Given the description of an element on the screen output the (x, y) to click on. 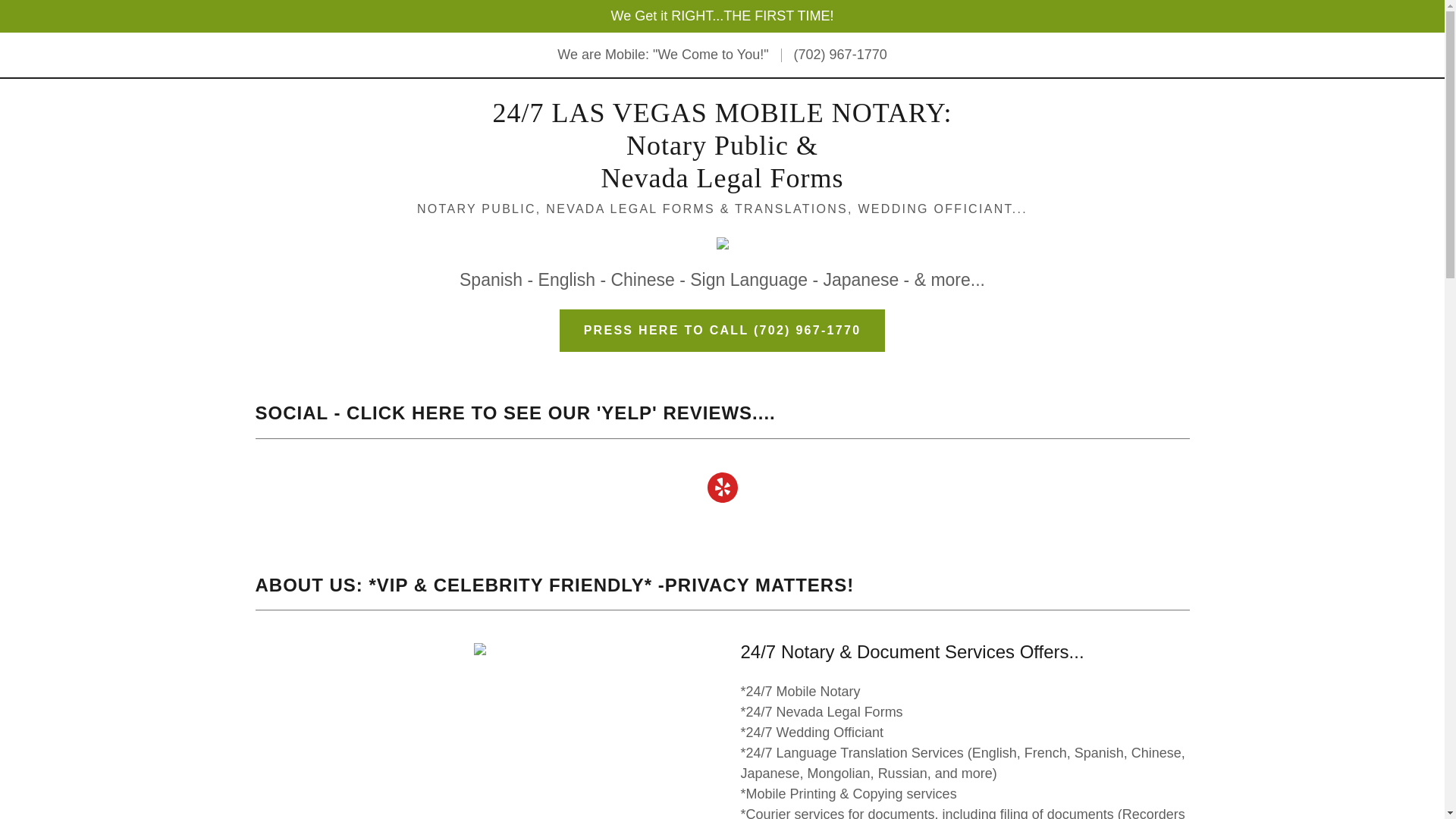
(702) 967-1770 Element type: text (840, 54)
PRESS HERE TO CALL (702) 967-1770 Element type: text (722, 330)
